Given the description of an element on the screen output the (x, y) to click on. 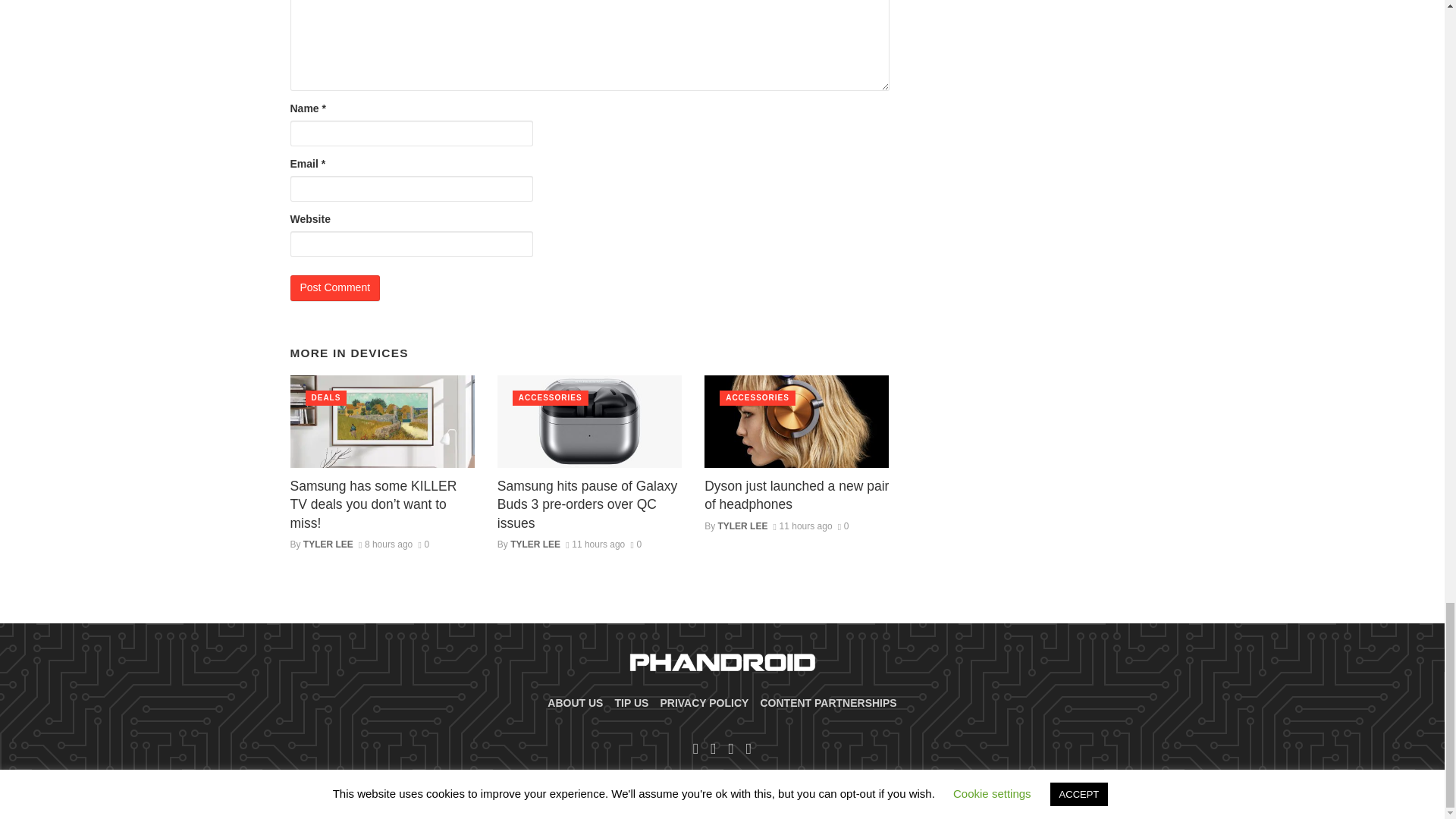
Post Comment (334, 288)
